Given the description of an element on the screen output the (x, y) to click on. 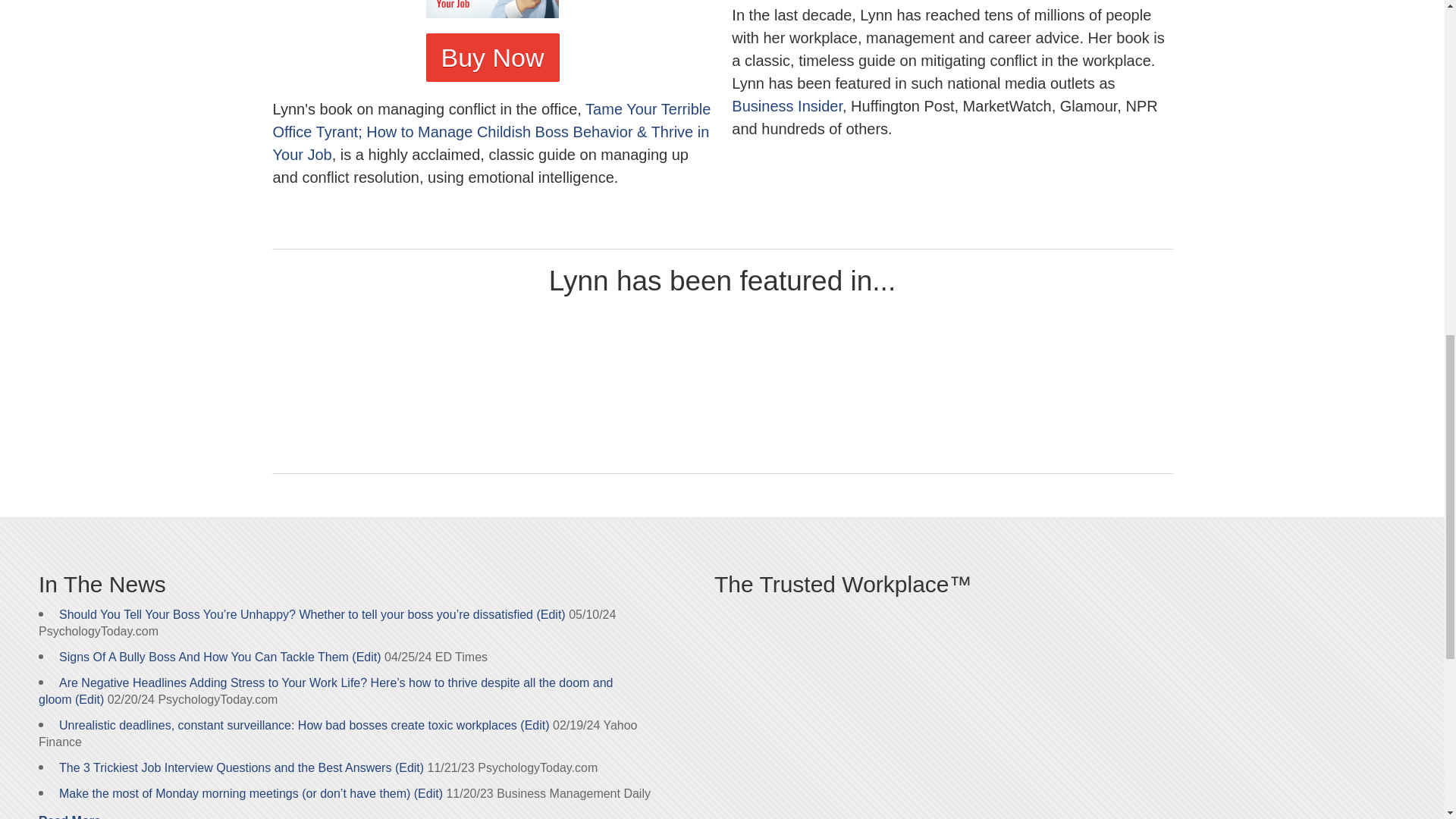
Buy Now (492, 57)
Signs Of A Bully Boss And How You Can Tackle Them (204, 656)
Business Insider (787, 105)
The 3 Trickiest Job Interview Questions and the Best Answers (225, 767)
